Given the description of an element on the screen output the (x, y) to click on. 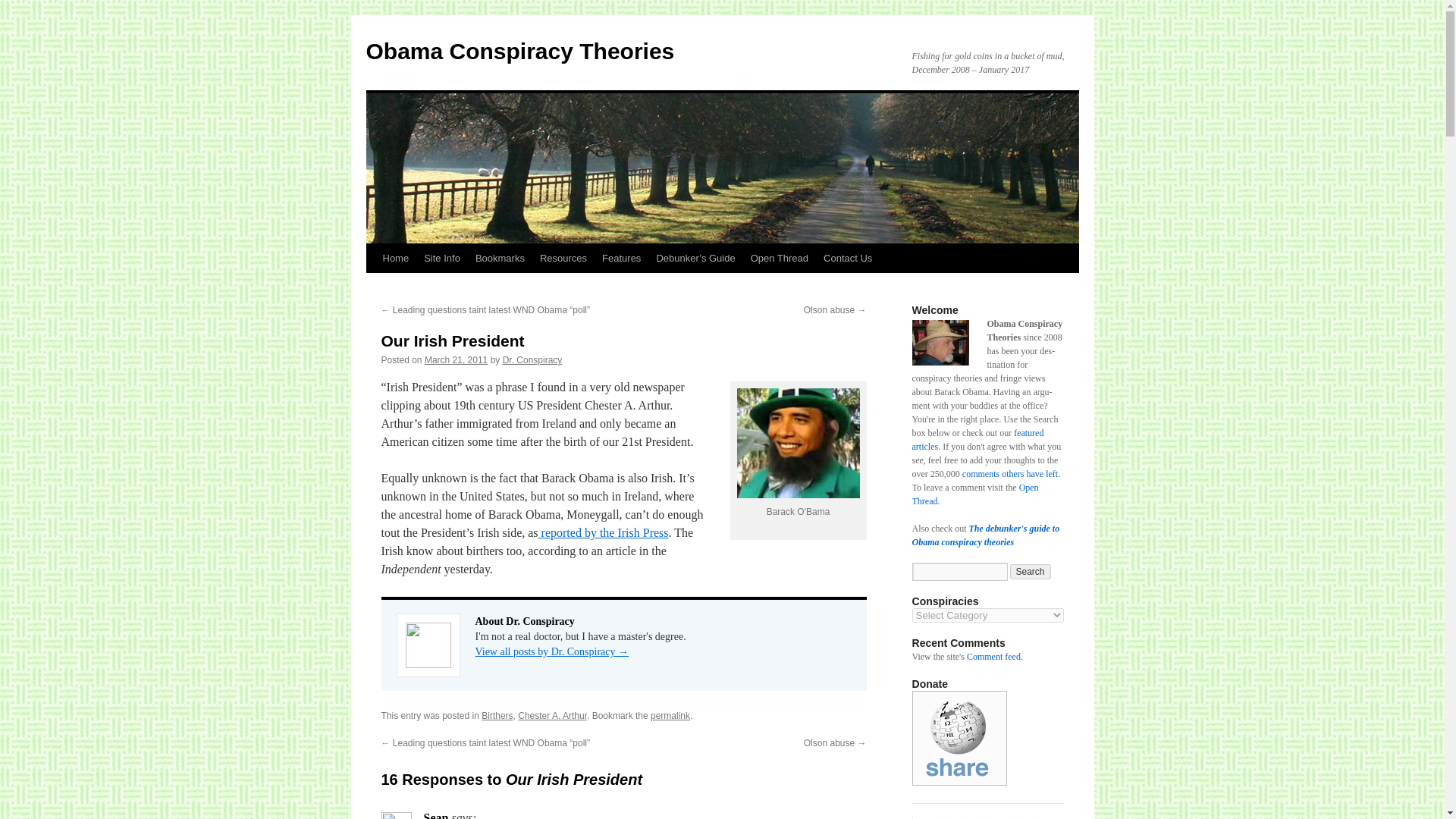
Dr. Conspiracy (532, 359)
View all posts by Dr. Conspiracy (532, 359)
Birthers (496, 715)
Obama Conspiracy Theories (519, 50)
Site Info (441, 258)
11:32 am (456, 359)
ObamaIrish (798, 442)
Bookmarks (499, 258)
Open Thread (778, 258)
Resources (563, 258)
permalink (670, 715)
Search (1030, 571)
reported by the Irish Press (603, 532)
Home (395, 258)
Features (620, 258)
